Given the description of an element on the screen output the (x, y) to click on. 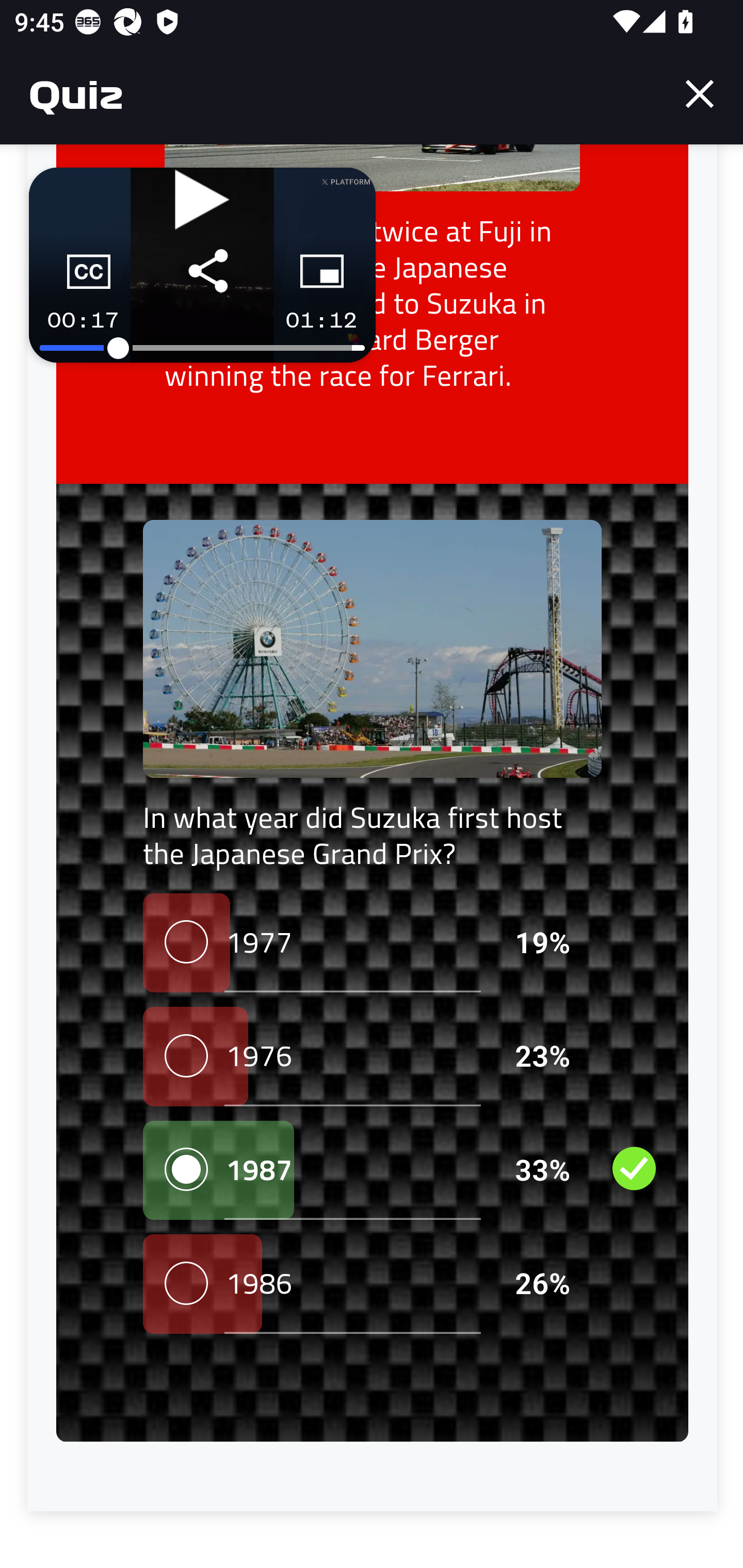
Close (699, 93)
1977 19% (372, 943)
1976 23% (372, 1057)
1987 33%  (372, 1171)
1986 26% (372, 1285)
